Given the description of an element on the screen output the (x, y) to click on. 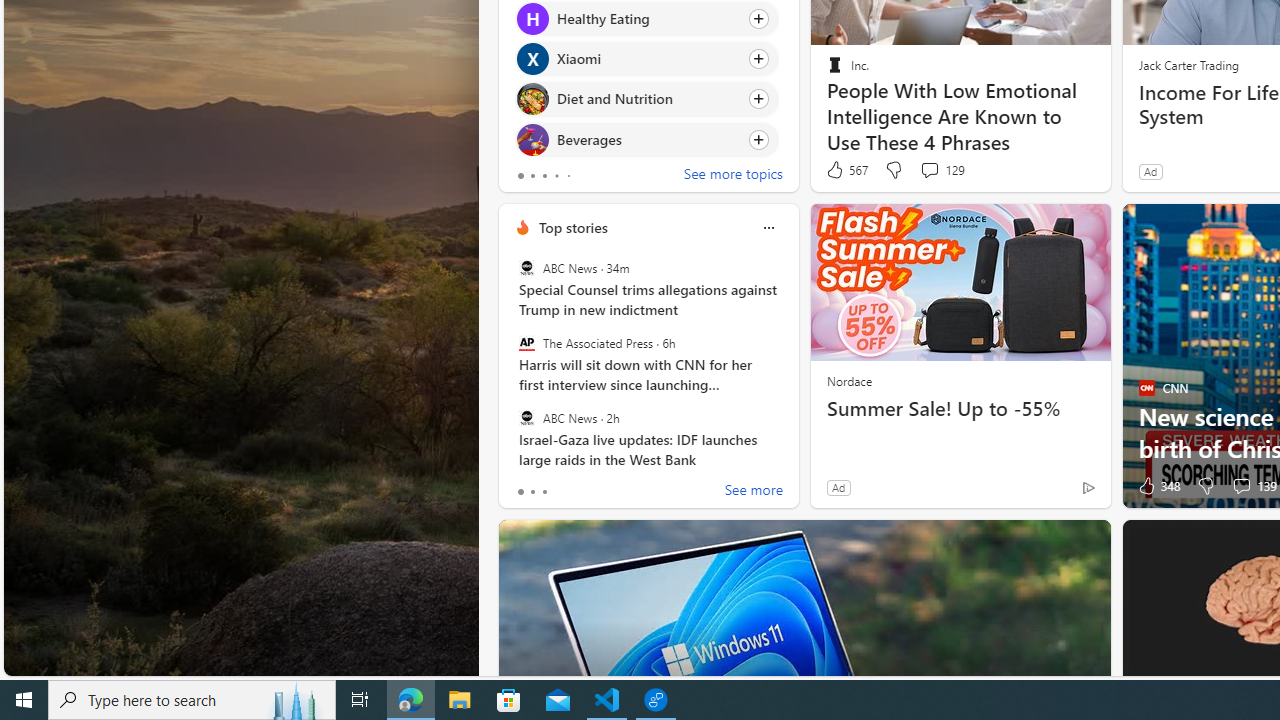
tab-4 (567, 175)
tab-3 (556, 175)
